Given the description of an element on the screen output the (x, y) to click on. 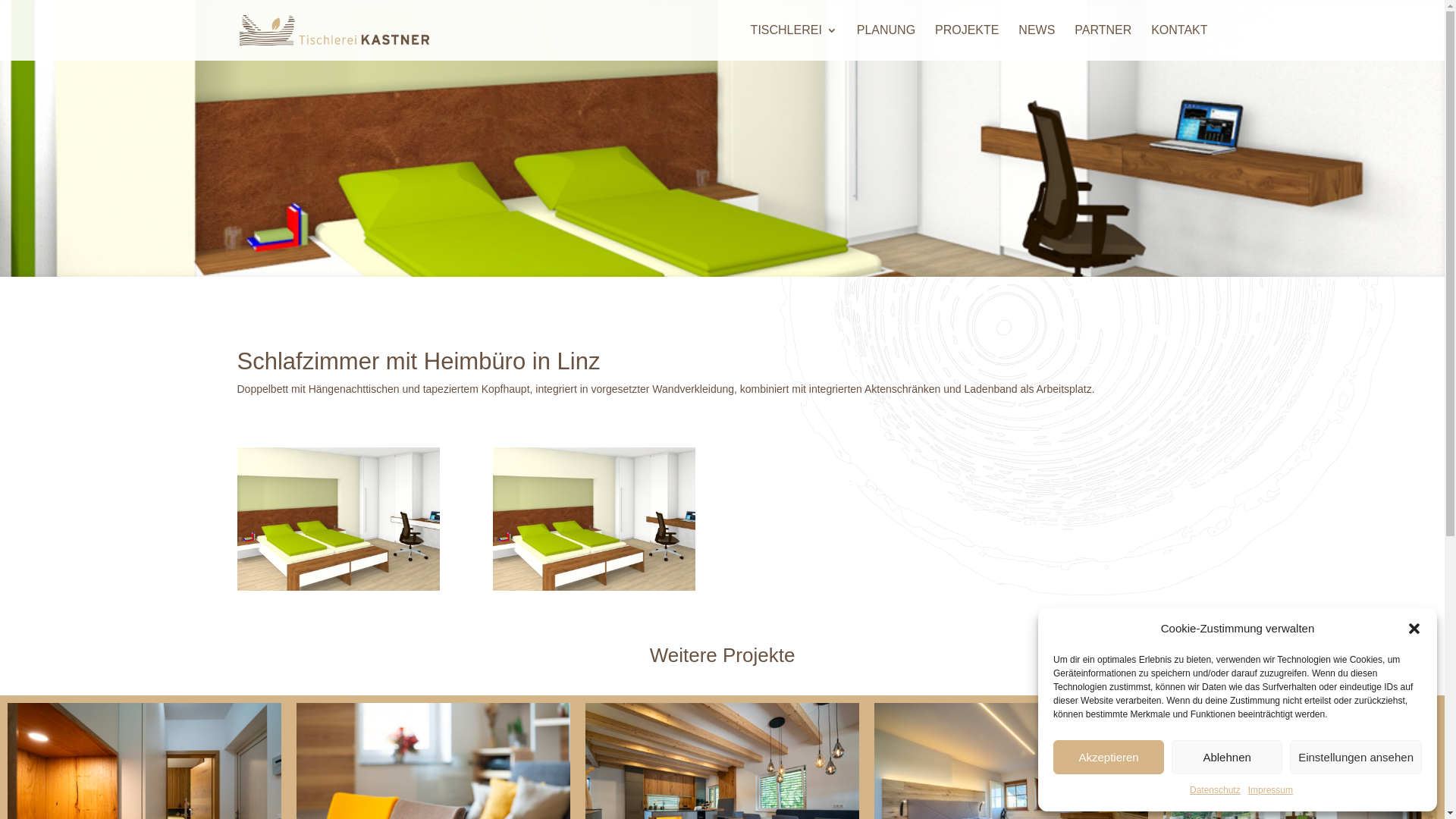
Schlafzimmer Linz Element type: hover (337, 590)
KONTAKT Element type: text (1179, 42)
Schlafzimmer_Linz Element type: hover (593, 590)
PLANUNG Element type: text (885, 42)
TISCHLEREI Element type: text (793, 42)
PARTNER Element type: text (1102, 42)
Impressum Element type: text (1270, 790)
Akzeptieren Element type: text (1108, 757)
Einstellungen ansehen Element type: text (1355, 757)
PROJEKTE Element type: text (966, 42)
Datenschutz Element type: text (1214, 790)
Ablehnen Element type: text (1226, 757)
NEWS Element type: text (1036, 42)
